Given the description of an element on the screen output the (x, y) to click on. 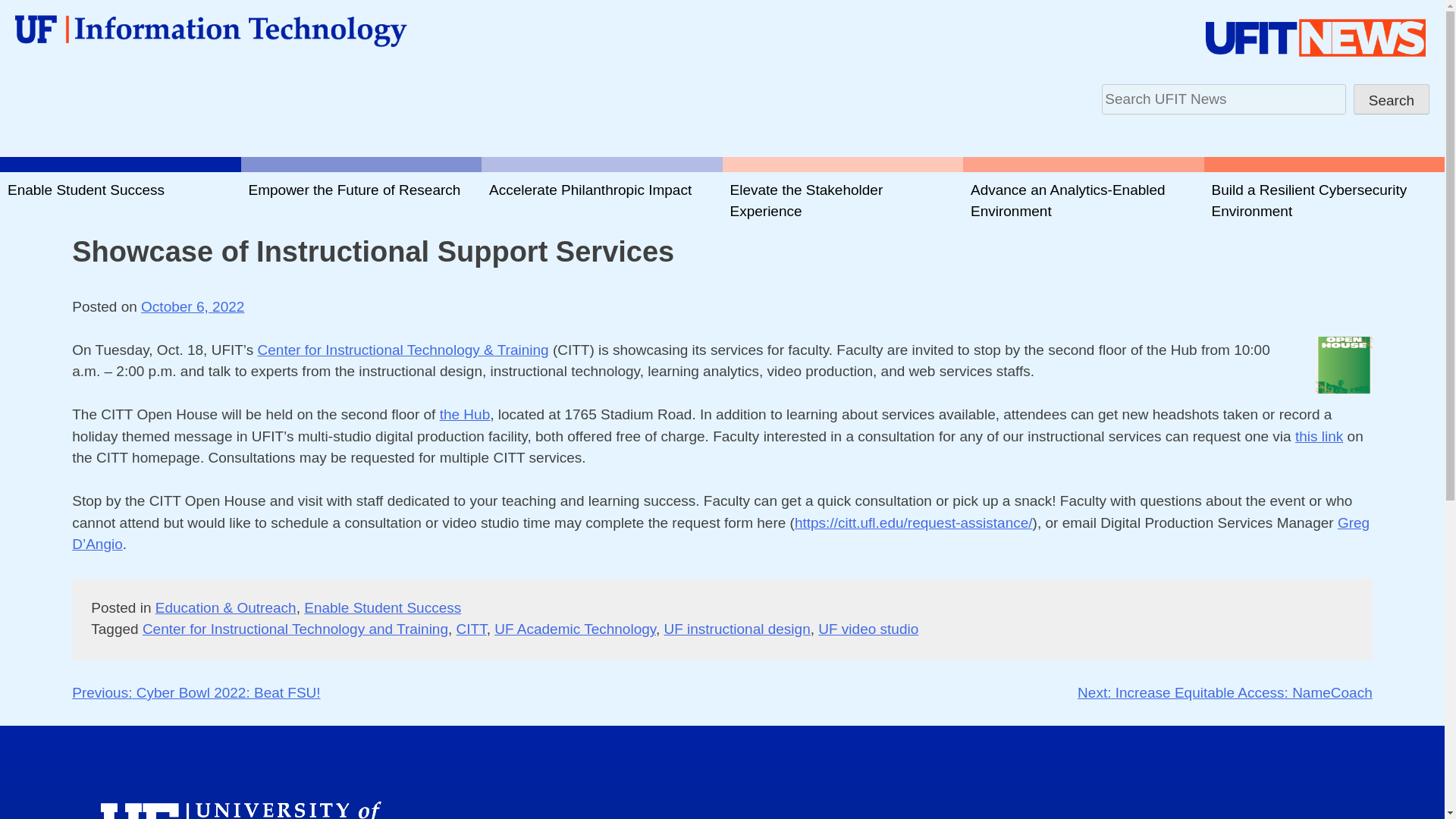
UF video studio (868, 628)
Center for Instructional Technology and Training (295, 628)
the Hub (464, 414)
October 6, 2022 (192, 306)
Next: Increase Equitable Access: NameCoach (1225, 692)
Search (1391, 99)
Accelerate Philanthropic Impact (601, 200)
CITT (471, 628)
Previous: Cyber Bowl 2022: Beat FSU! (195, 692)
Elevate the Stakeholder Experience (842, 200)
Enable Student Success (120, 200)
Advance an Analytics-Enabled Environment (1083, 200)
this link (1318, 436)
Empower the Future of Research (361, 200)
UF Academic Technology (575, 628)
